Given the description of an element on the screen output the (x, y) to click on. 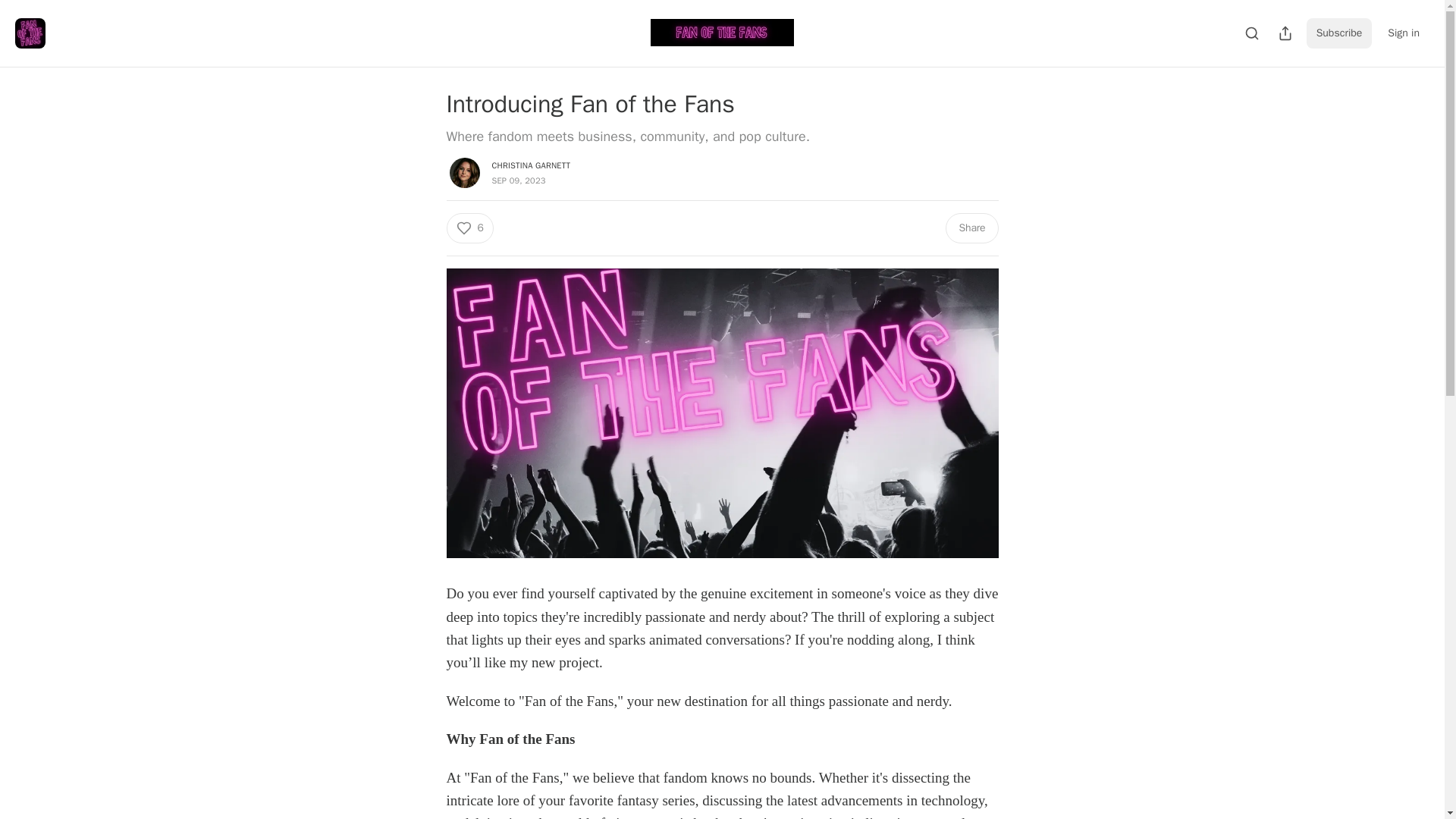
Subscribe (1339, 33)
Share (970, 227)
Sign in (1403, 33)
6 (469, 227)
CHRISTINA GARNETT (531, 164)
